Given the description of an element on the screen output the (x, y) to click on. 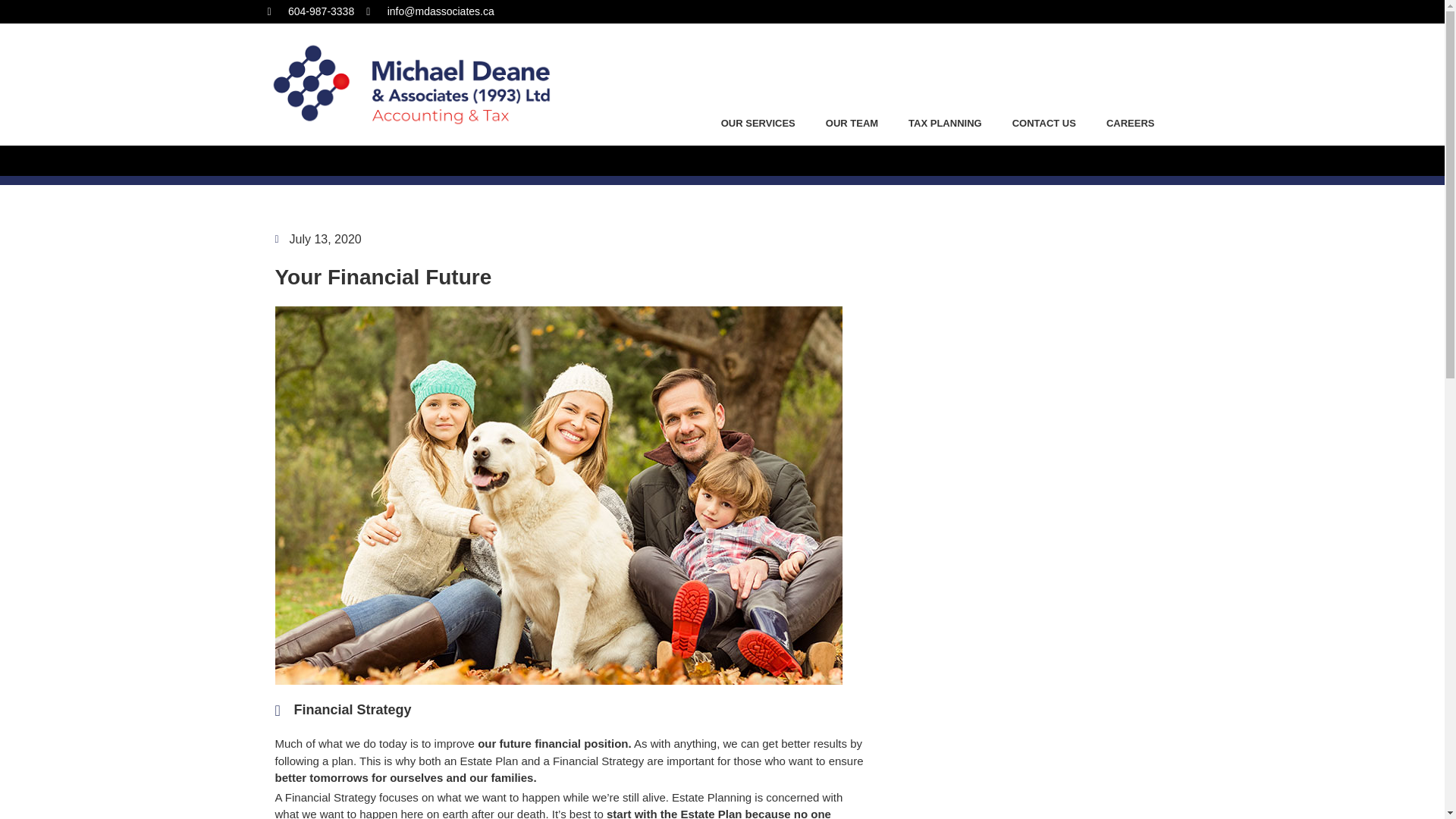
OUR TEAM (851, 123)
TAX PLANNING (945, 123)
CAREERS (1130, 123)
OUR SERVICES (758, 123)
CONTACT US (1043, 123)
604-987-3338 (309, 11)
